Given the description of an element on the screen output the (x, y) to click on. 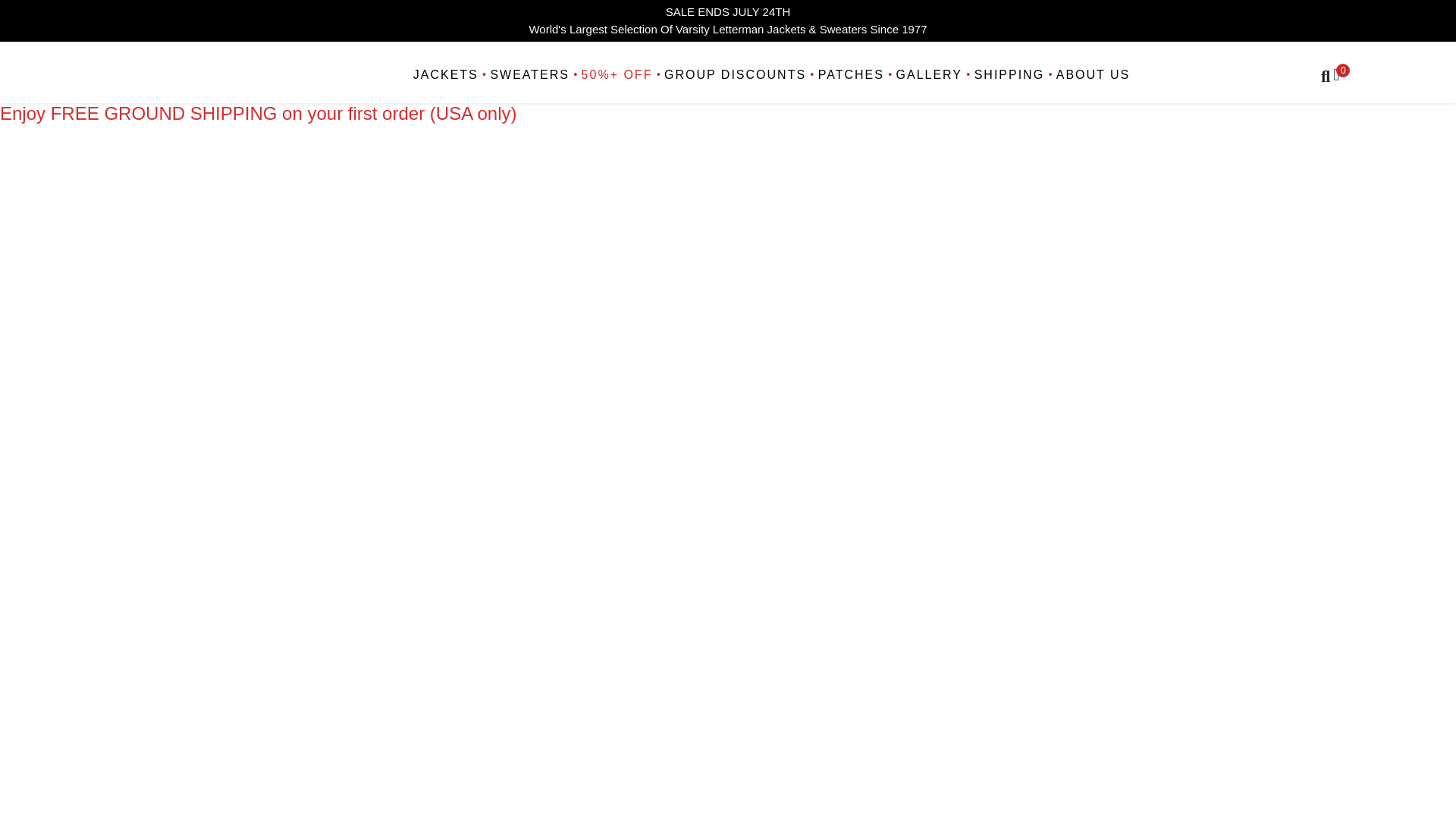
PATCHES (848, 76)
SHIPPING (1007, 76)
GALLERY (927, 76)
SWEATERS (527, 76)
GROUP DISCOUNTS (732, 76)
JACKETS (447, 76)
